Given the description of an element on the screen output the (x, y) to click on. 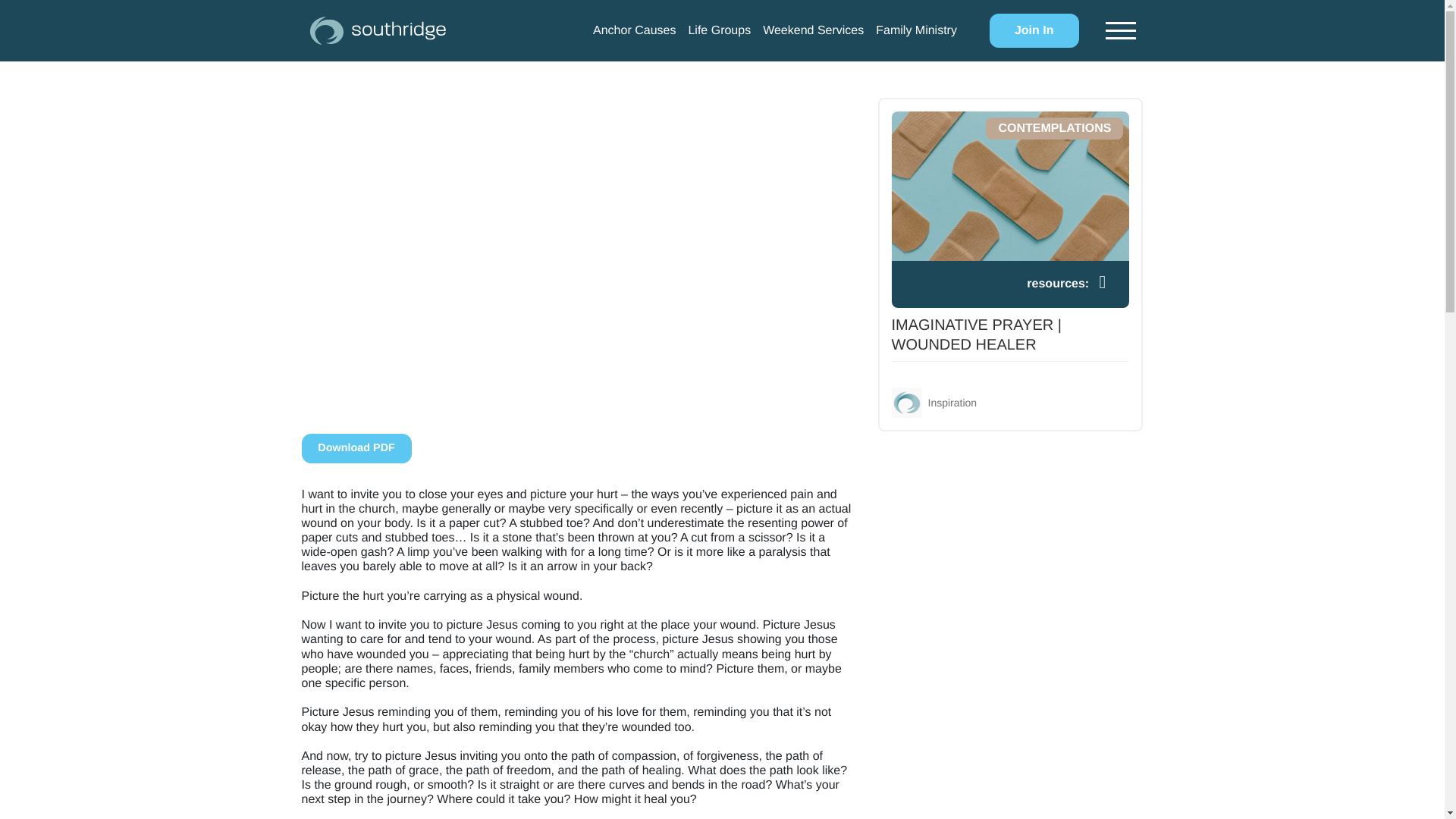
Join In (1034, 30)
Life Groups (719, 30)
Family Ministry (916, 30)
Anchor Causes (633, 30)
Weekend Services (812, 30)
